Given the description of an element on the screen output the (x, y) to click on. 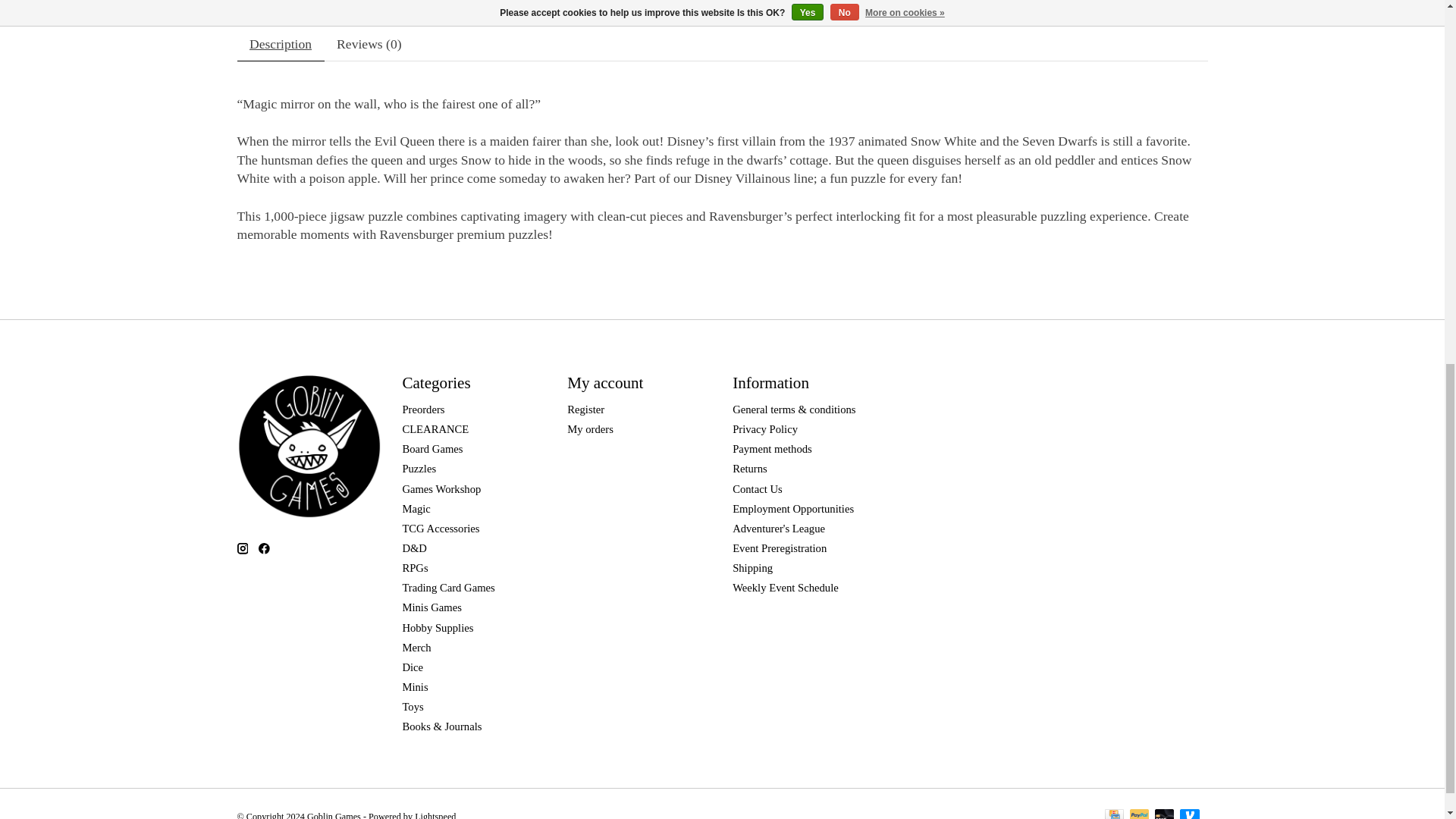
Employment Opportunities (792, 508)
Payment methods (772, 449)
Event Preregistration (779, 548)
Returns (749, 468)
Contact Us (757, 488)
Shipping (752, 567)
Adventurer's League (778, 528)
Privacy Policy (764, 428)
My orders (589, 428)
Register (585, 409)
